Given the description of an element on the screen output the (x, y) to click on. 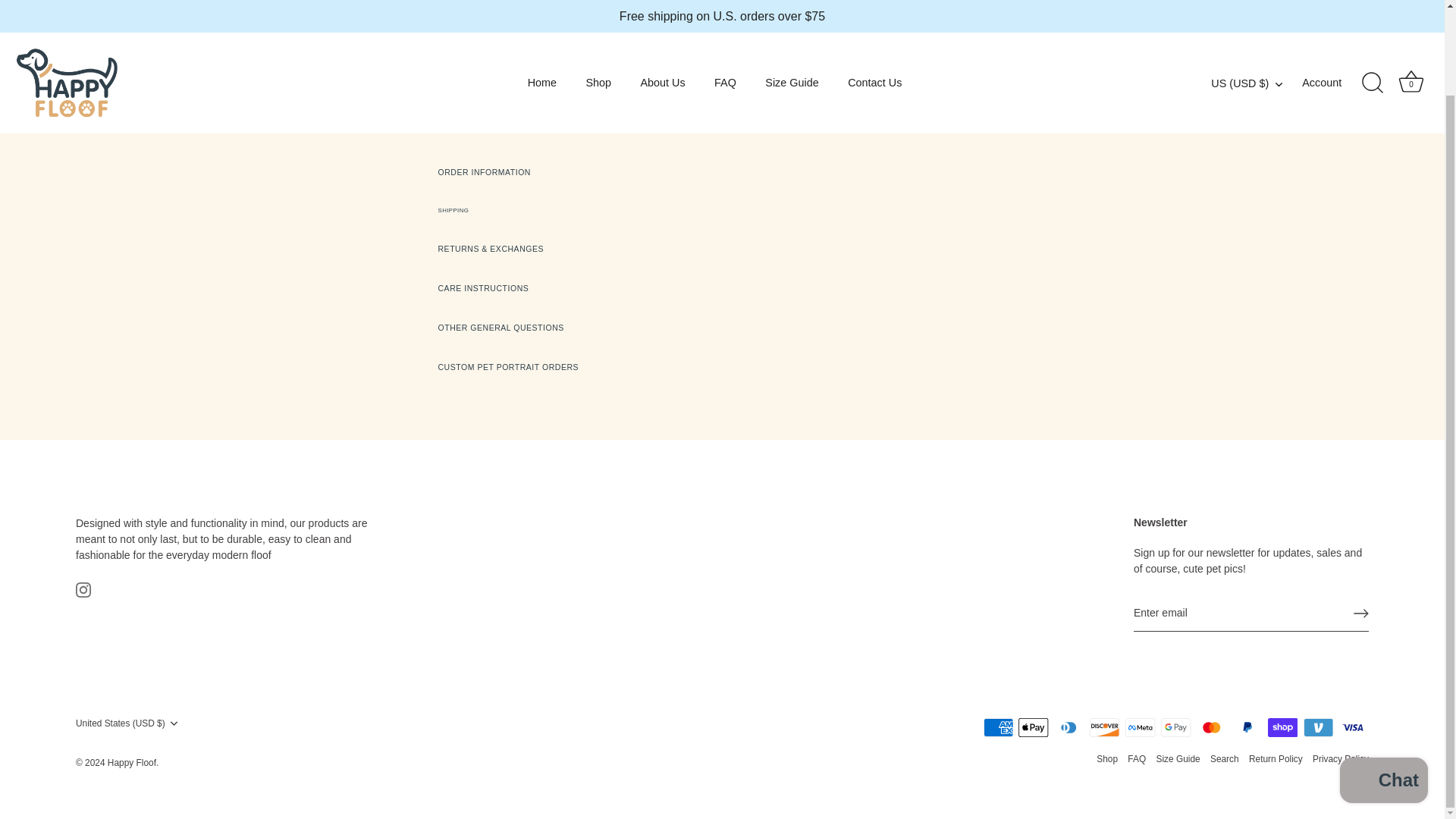
Discover (1104, 727)
American Express (998, 727)
Mastercard (1210, 727)
Meta Pay (1140, 727)
Shop Pay (1282, 727)
Instagram (82, 589)
Google Pay (1175, 727)
Venmo (1318, 727)
Visa (1353, 727)
Shopify online store chat (1383, 685)
